Given the description of an element on the screen output the (x, y) to click on. 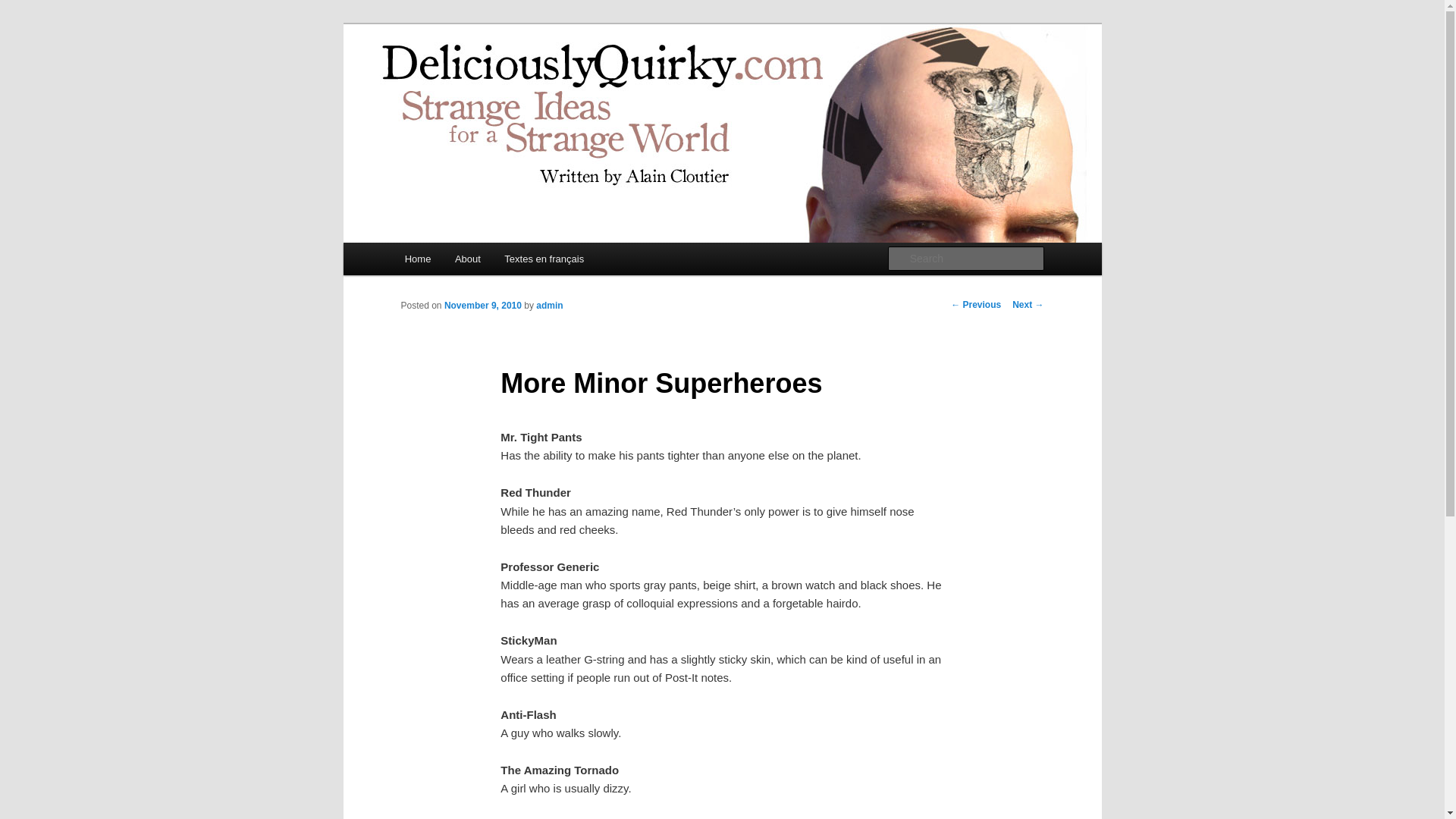
Search (24, 8)
2:54 pm (482, 305)
Home (417, 258)
View all posts by admin (548, 305)
About (467, 258)
DeliciouslyQuirky.com (521, 78)
November 9, 2010 (482, 305)
admin (548, 305)
